Given the description of an element on the screen output the (x, y) to click on. 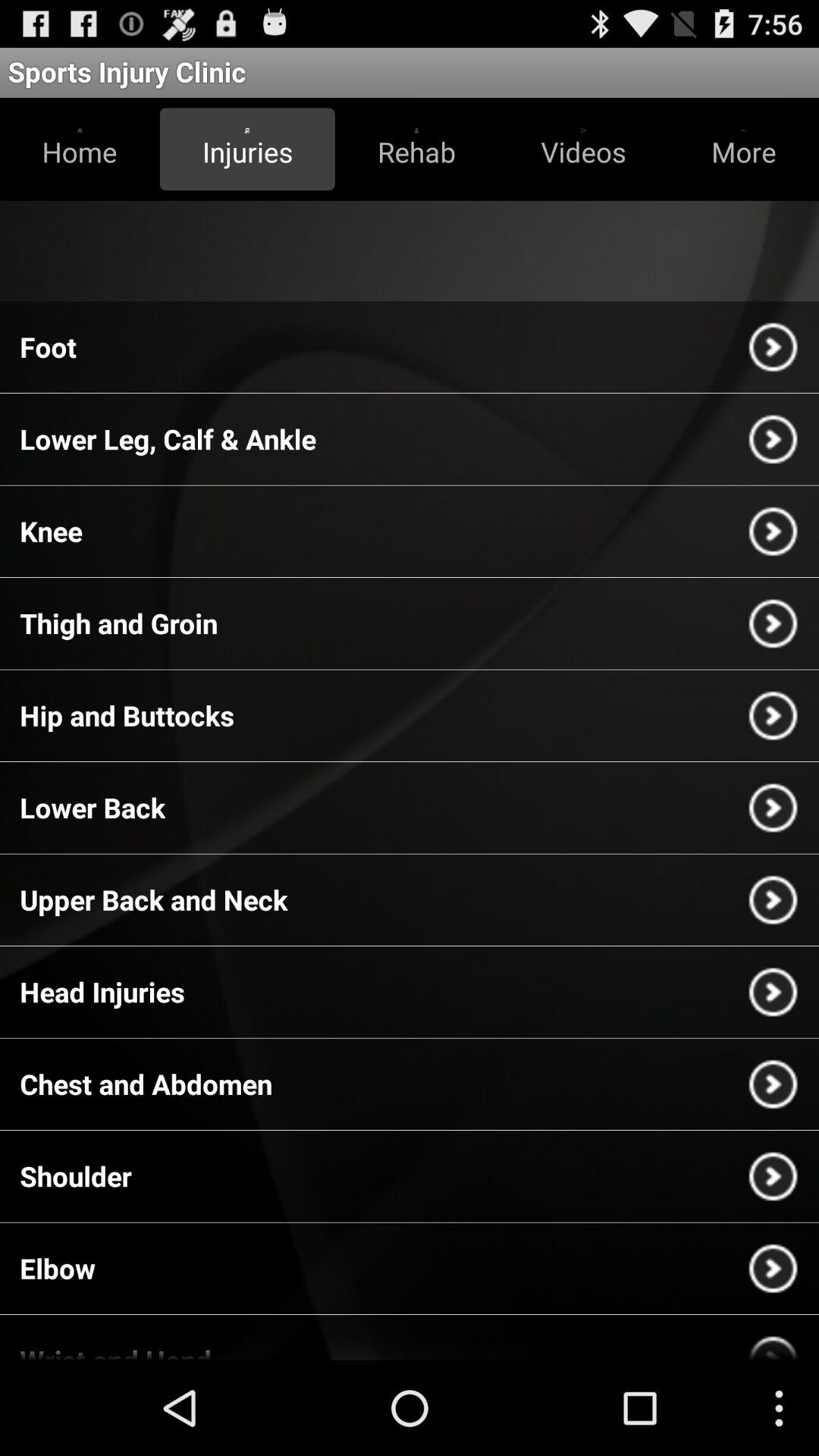
jump to the rehab (416, 149)
